Given the description of an element on the screen output the (x, y) to click on. 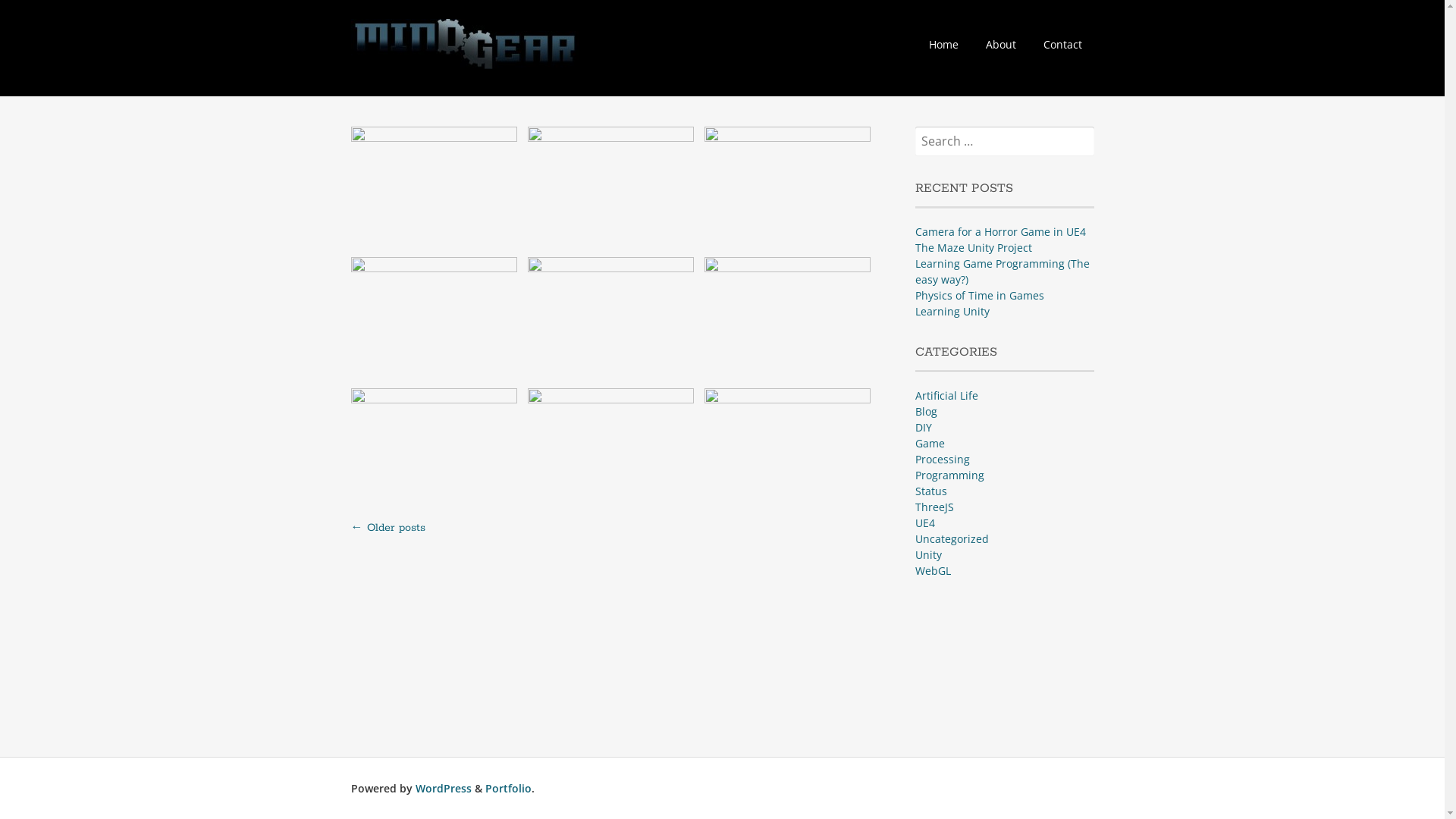
Learning Game Programming (The easy way?) Element type: text (1002, 271)
Status Element type: text (931, 490)
Uncategorized Element type: text (951, 538)
Artificial Life Element type: text (946, 395)
DIY Element type: text (923, 427)
Learning Unity Element type: text (952, 311)
About Element type: text (1000, 44)
Portfolio Element type: text (508, 788)
Home Element type: text (942, 44)
Game Element type: text (929, 443)
Unity Element type: text (928, 554)
ThreeJS Element type: text (934, 506)
Skip to content Element type: text (928, 36)
The Maze Unity Project Element type: text (973, 247)
Search Element type: text (33, 12)
Processing Element type: text (942, 458)
Programming Element type: text (949, 474)
Camera for a Horror Game in UE4 Element type: text (1000, 231)
WordPress Element type: text (443, 788)
Contact Element type: text (1062, 44)
Blog Element type: text (926, 411)
WebGL Element type: text (932, 570)
Physics of Time in Games Element type: text (979, 295)
UE4 Element type: text (925, 522)
